Given the description of an element on the screen output the (x, y) to click on. 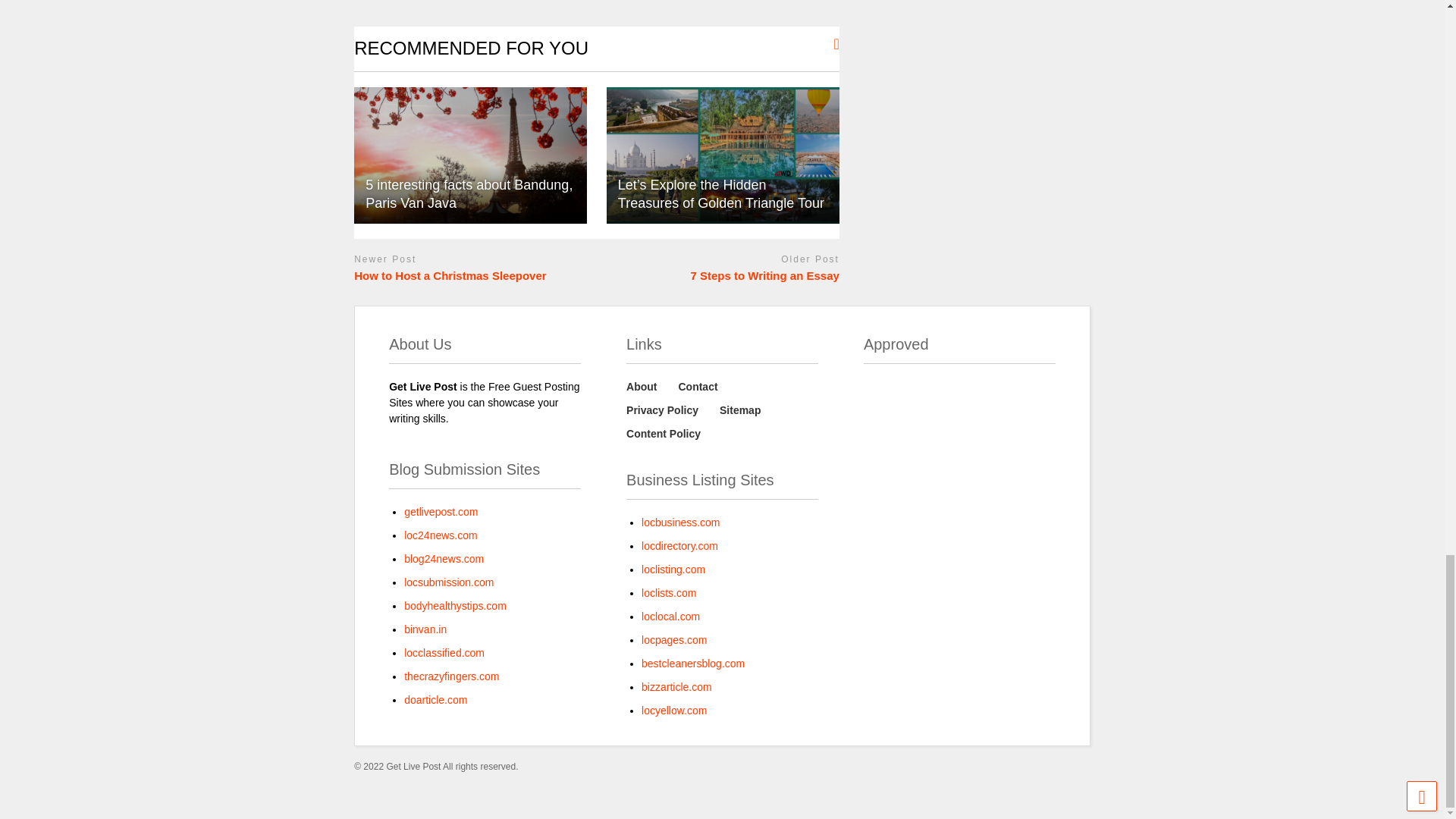
5 interesting facts about Bandung, Paris Van Java (469, 155)
Click to read (469, 154)
Click to read (723, 154)
